Given the description of an element on the screen output the (x, y) to click on. 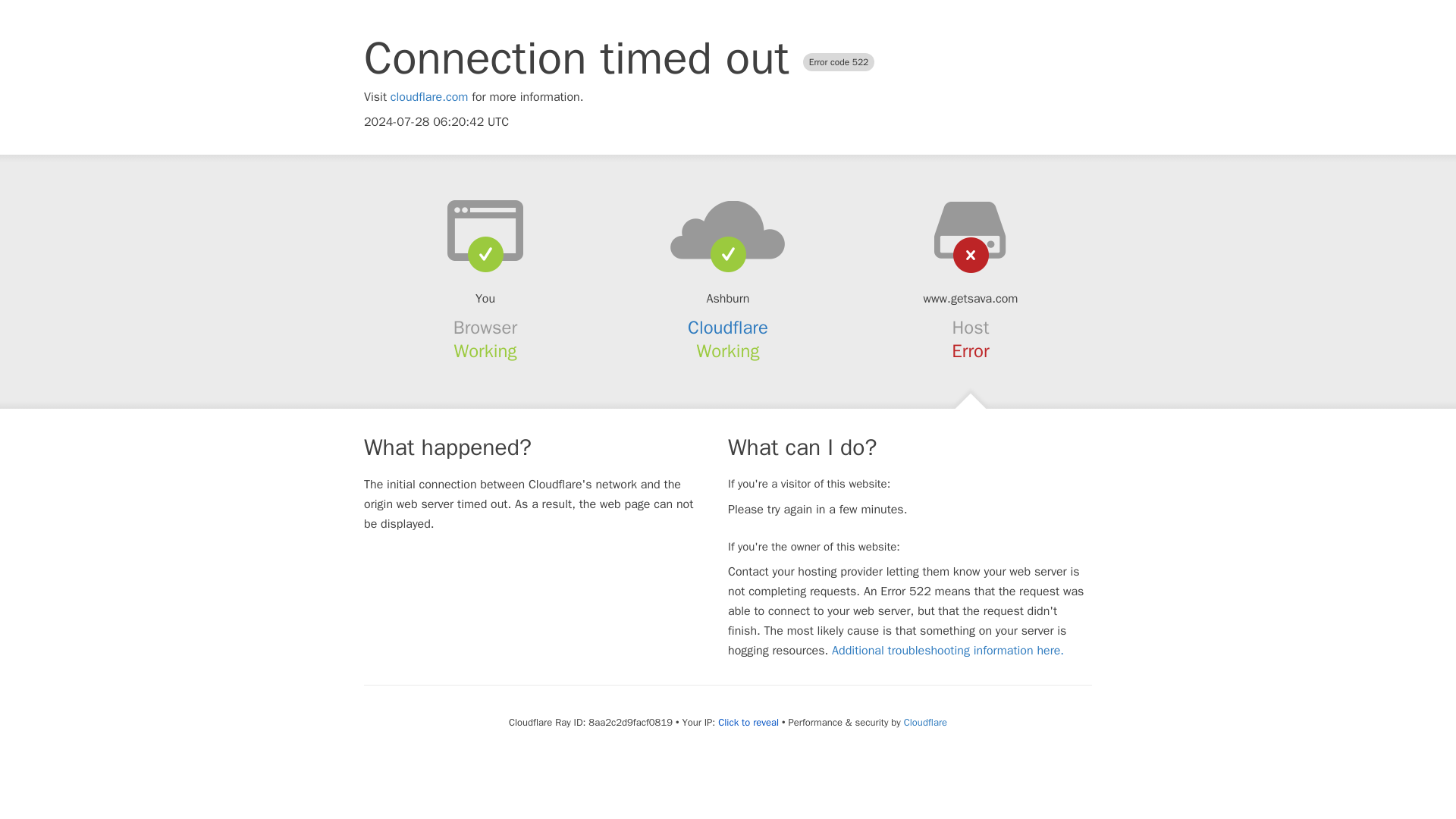
Additional troubleshooting information here. (947, 650)
Cloudflare (925, 721)
Click to reveal (747, 722)
Cloudflare (727, 327)
cloudflare.com (429, 96)
